Given the description of an element on the screen output the (x, y) to click on. 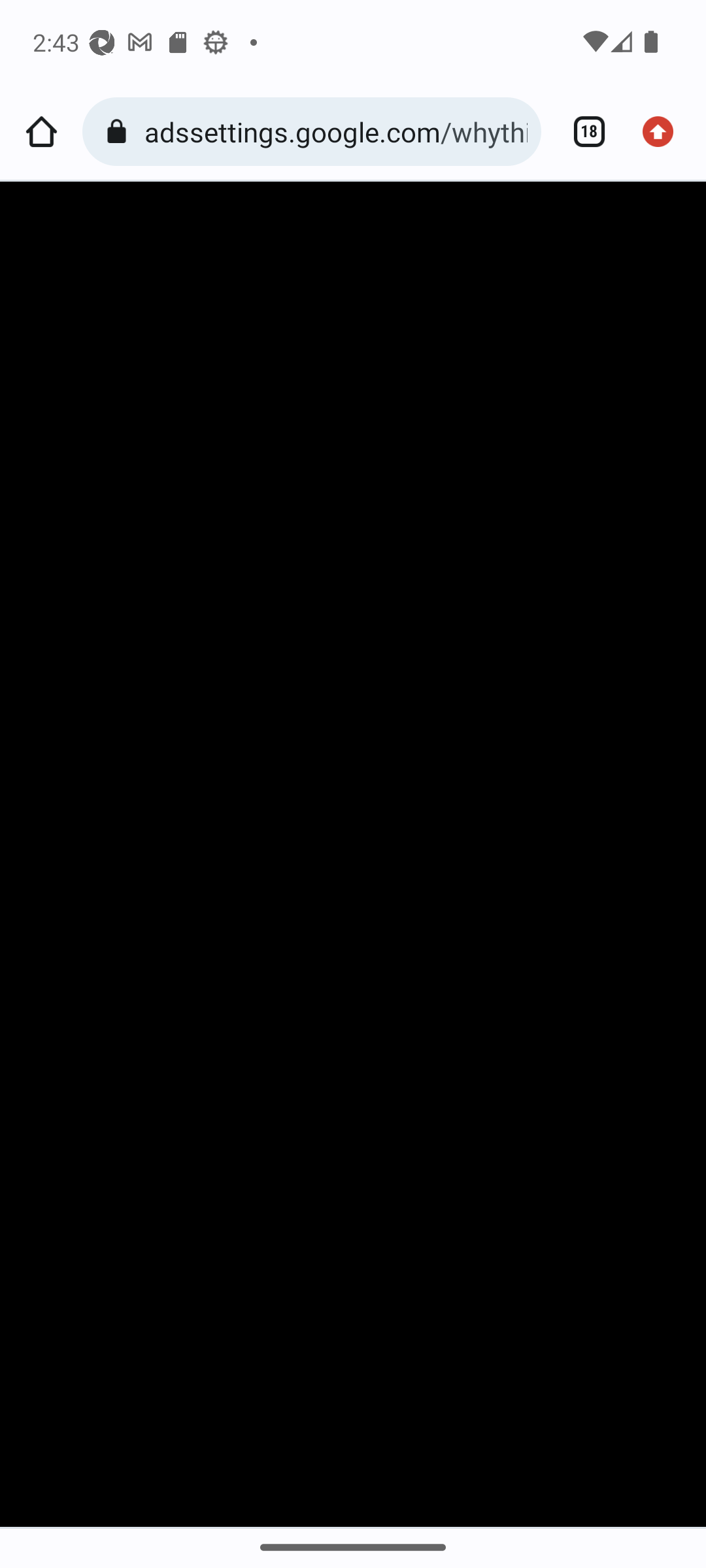
Home (41, 131)
Connection is secure (120, 131)
Switch or close tabs (582, 131)
Update available. More options (664, 131)
adssettings.google.com/whythisad (335, 131)
